Given the description of an element on the screen output the (x, y) to click on. 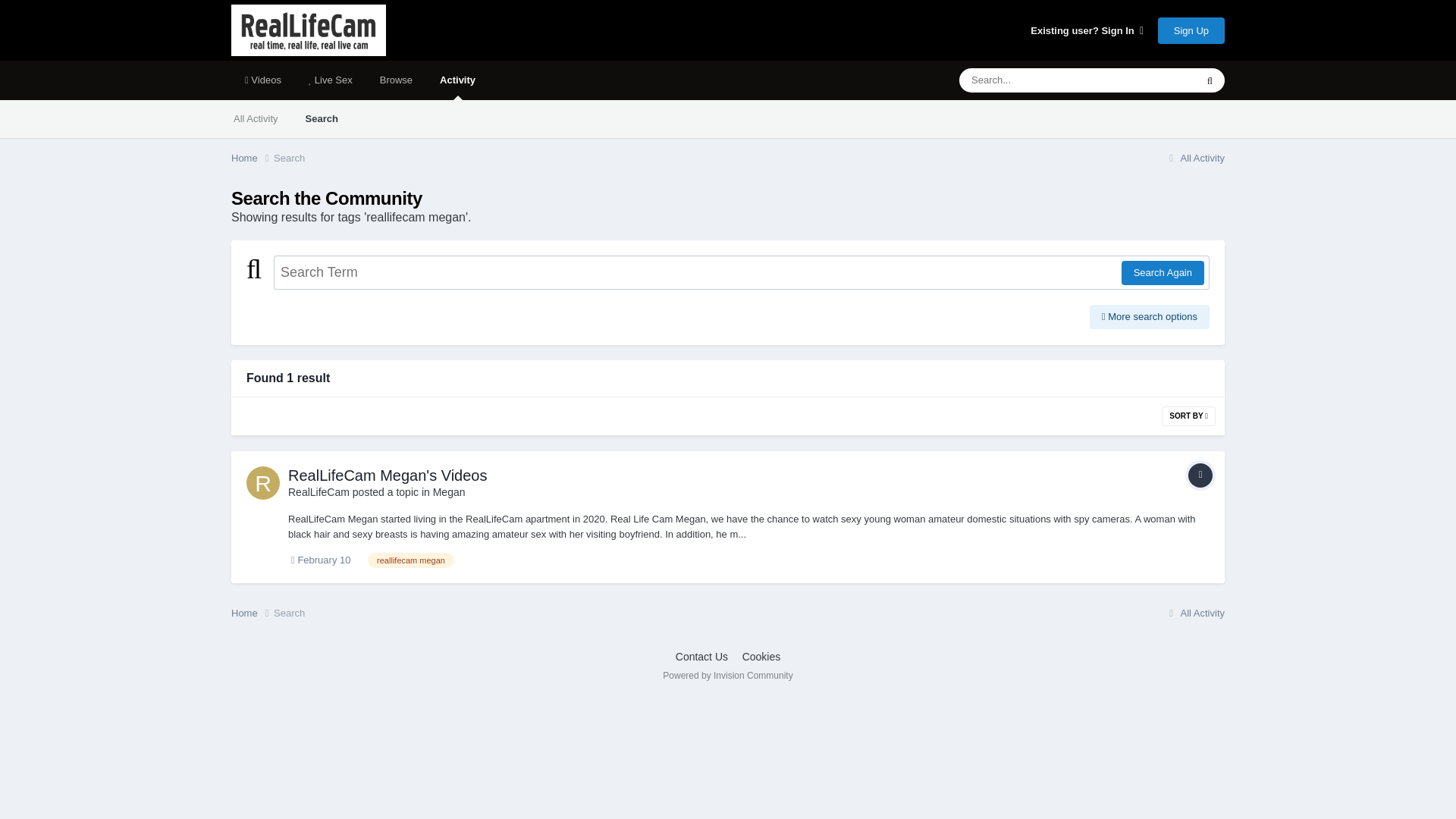
Home (252, 613)
Search (322, 118)
All Activity (255, 118)
Live Sex (330, 79)
Go to RealLifeCam's profile (262, 482)
Existing user? Sign In   (1086, 30)
Home (252, 158)
Go to RealLifeCam's profile (318, 491)
Sign Up (1190, 29)
Find other content tagged with 'reallifecam megan' (411, 560)
